Given the description of an element on the screen output the (x, y) to click on. 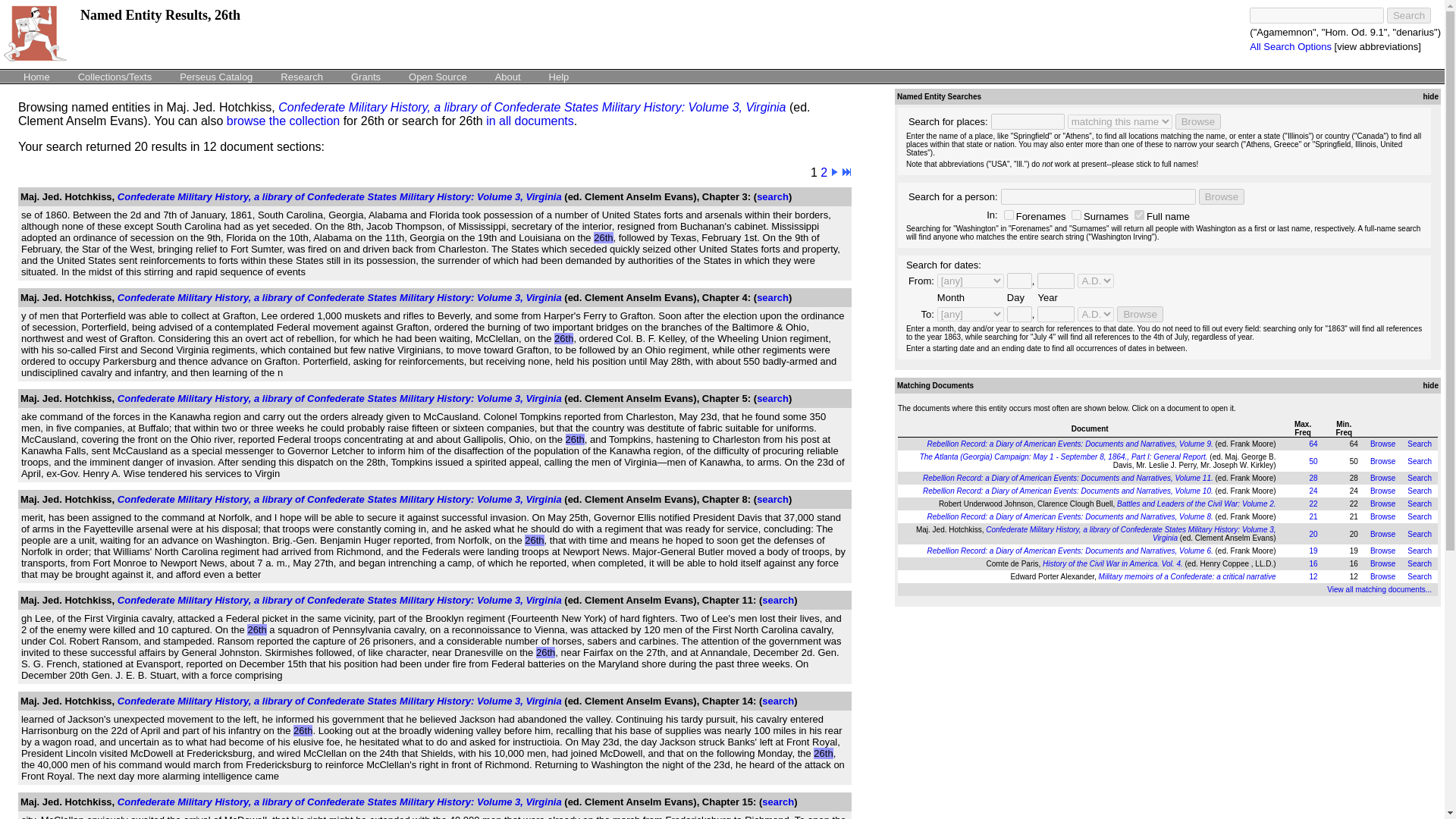
Search (1419, 460)
on (1076, 214)
50 (1312, 460)
Browse (1382, 460)
Search (1419, 490)
28 (1312, 478)
Search (1419, 478)
Browse (1382, 478)
